Given the description of an element on the screen output the (x, y) to click on. 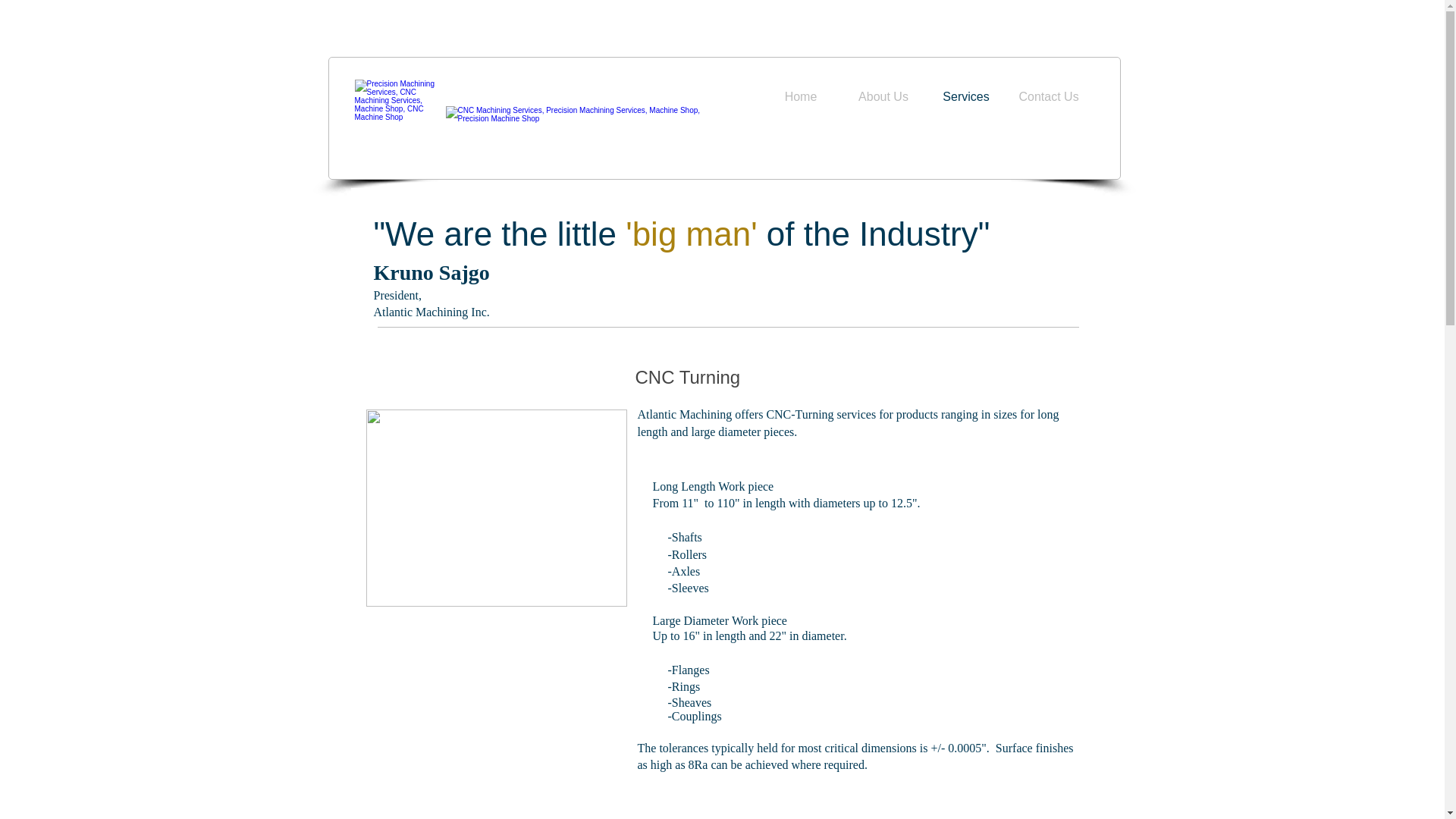
Services Element type: text (966, 96)
Home Element type: text (800, 96)
Contact Us Element type: text (1048, 96)
About Us Element type: text (882, 96)
